Given the description of an element on the screen output the (x, y) to click on. 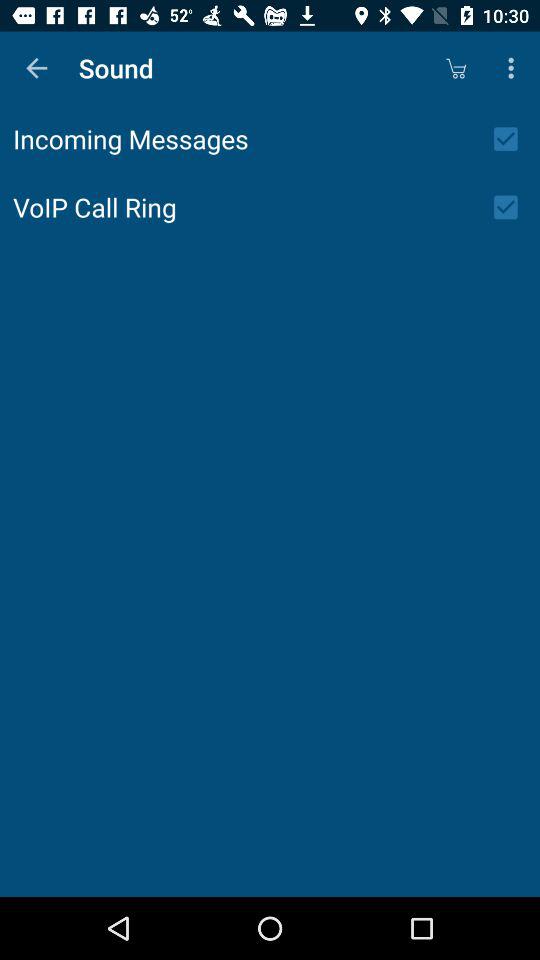
opt for incoming messages (512, 139)
